Given the description of an element on the screen output the (x, y) to click on. 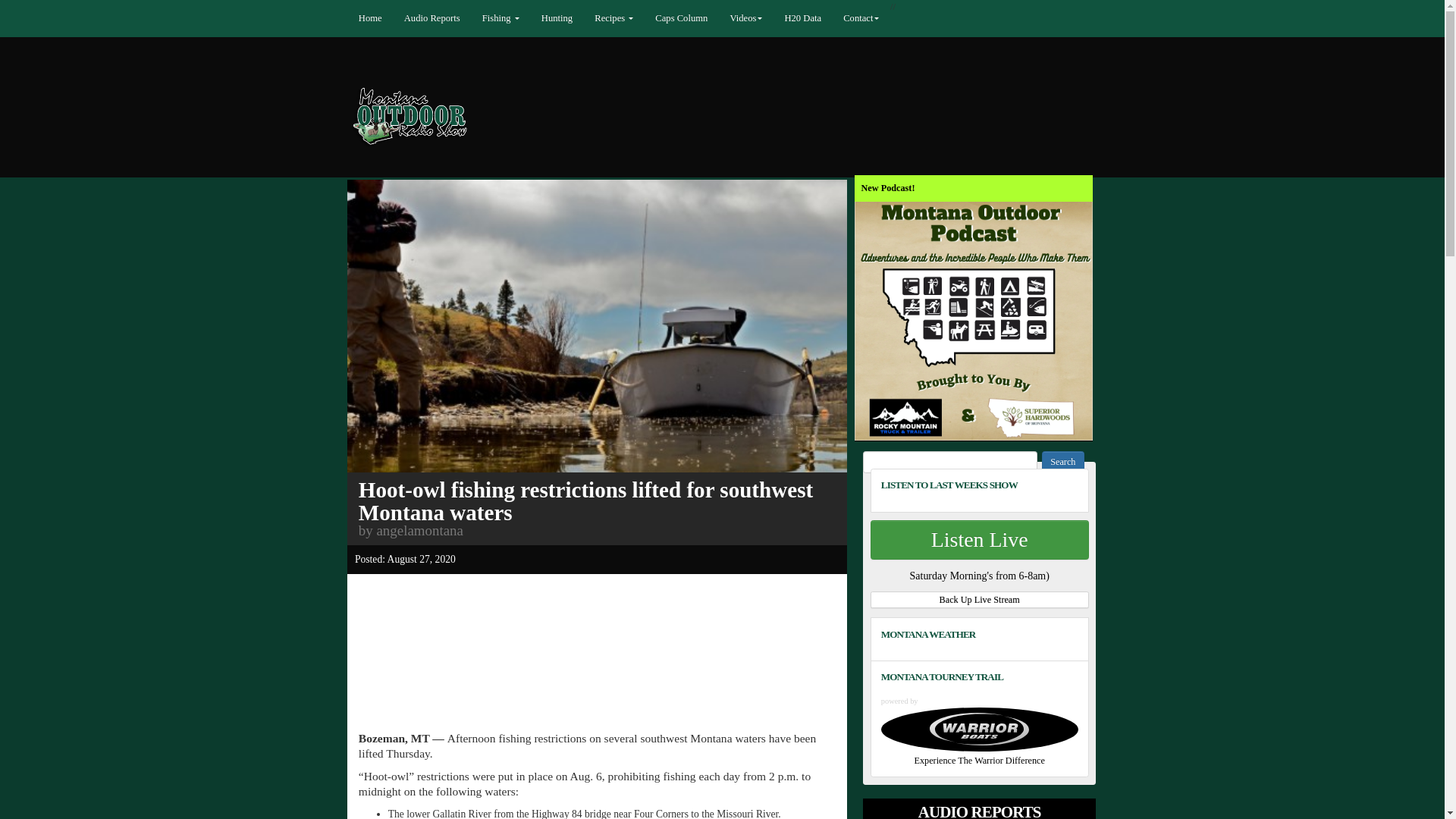
Search (1217, 529)
Caps Column (702, 18)
Recipes (632, 18)
Advertisement (599, 624)
Advertisement (599, 695)
Audio Reports (444, 18)
Hunting (574, 18)
Home (381, 18)
H20 Data (826, 18)
Videos (768, 18)
Contact (888, 18)
Fishing (515, 18)
